Given the description of an element on the screen output the (x, y) to click on. 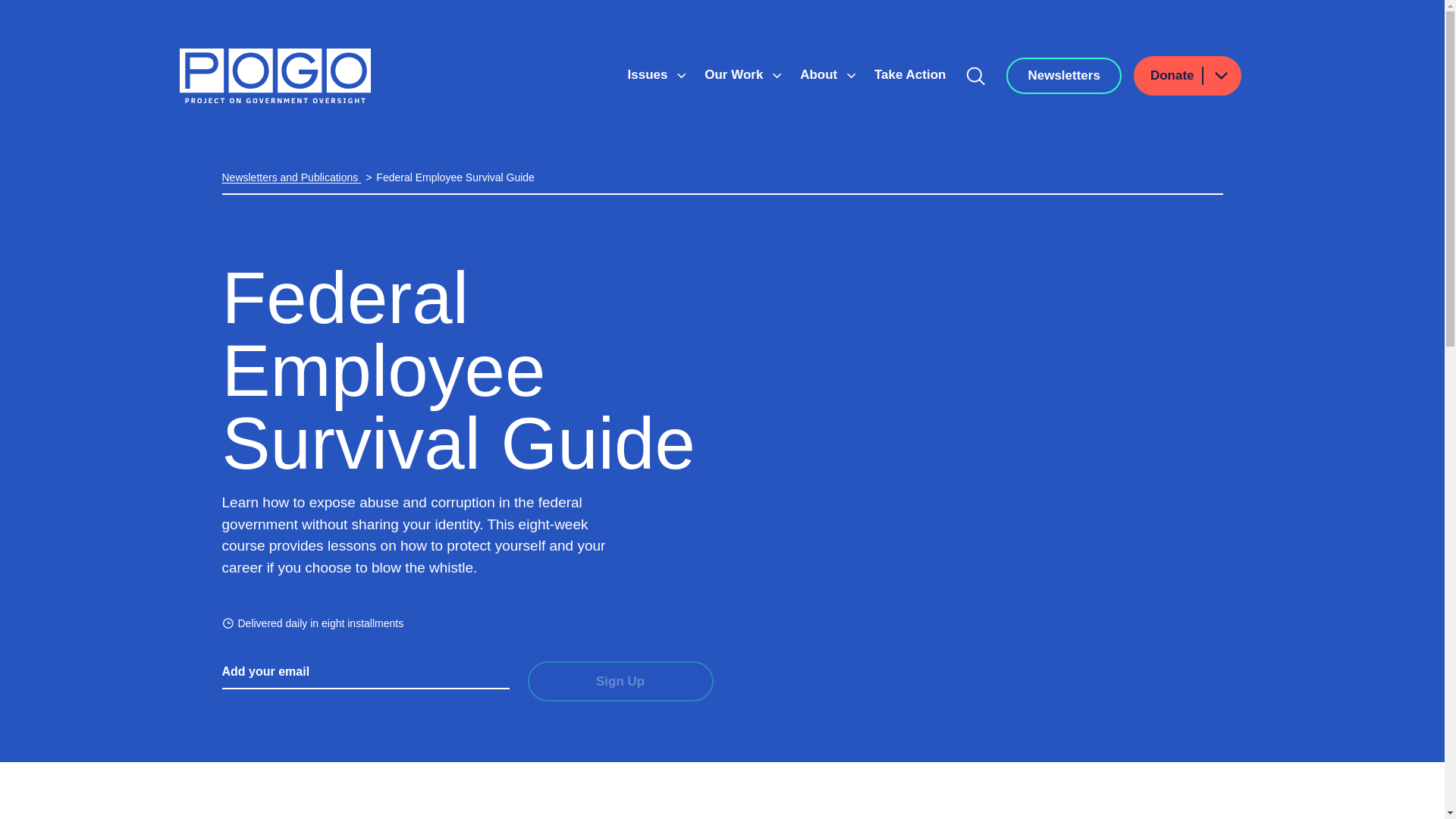
About (820, 74)
Our Work (735, 74)
Show submenu for About (851, 75)
Newsletters (1063, 75)
Home (274, 75)
Take Action (909, 74)
Donate (1187, 75)
Show submenu for Donate (1220, 75)
Search (976, 75)
Issues (649, 74)
Show submenu for Issues (681, 75)
Sign Up (620, 680)
Show submenu for Our Work (777, 75)
